Given the description of an element on the screen output the (x, y) to click on. 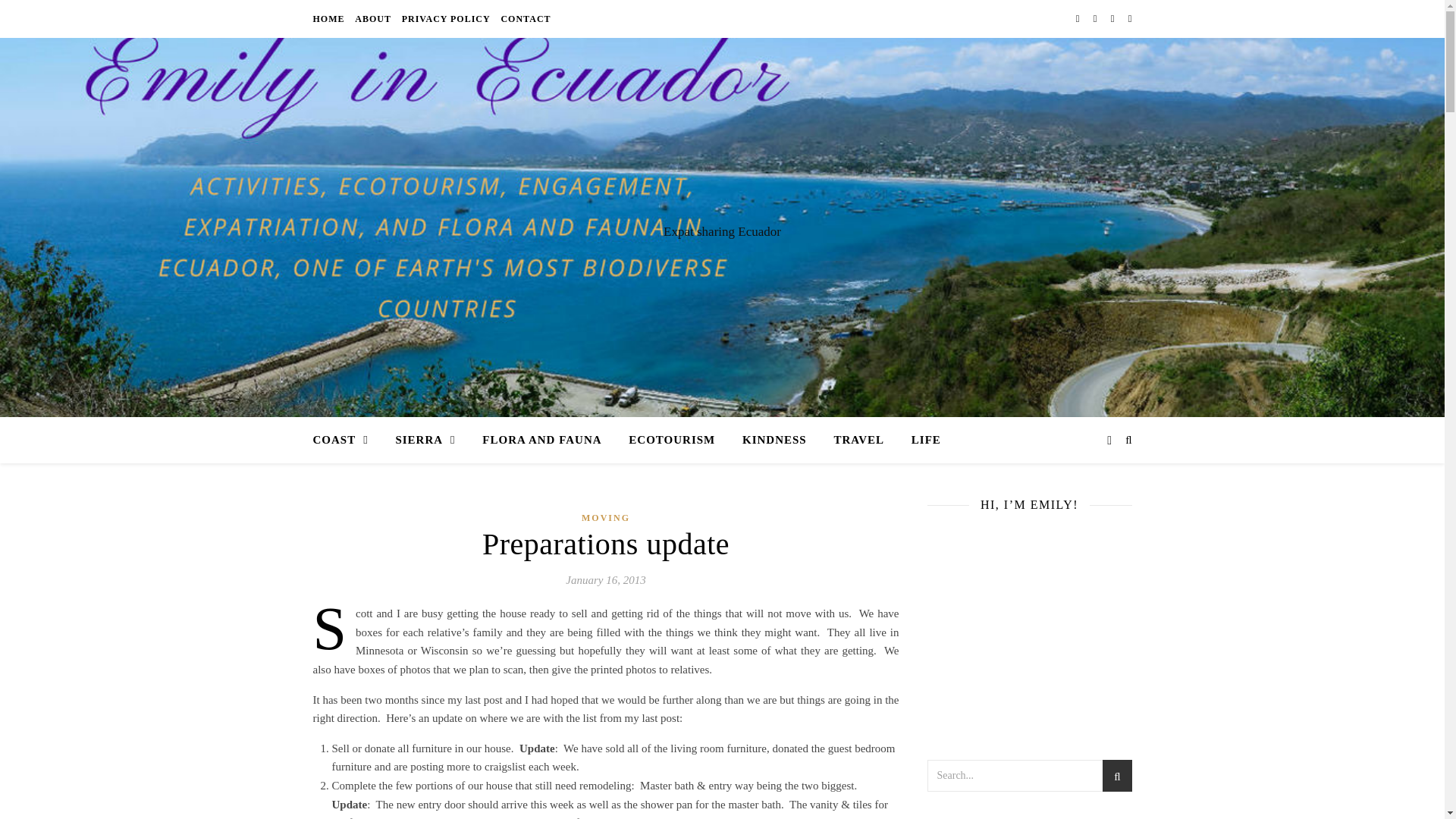
LIFE (919, 439)
KINDNESS (774, 439)
PRIVACY POLICY (446, 18)
CONTACT (523, 18)
SIERRA (424, 439)
COAST (346, 439)
TRAVEL (858, 439)
HOME (330, 18)
ABOUT (372, 18)
FLORA AND FAUNA (541, 439)
